Given the description of an element on the screen output the (x, y) to click on. 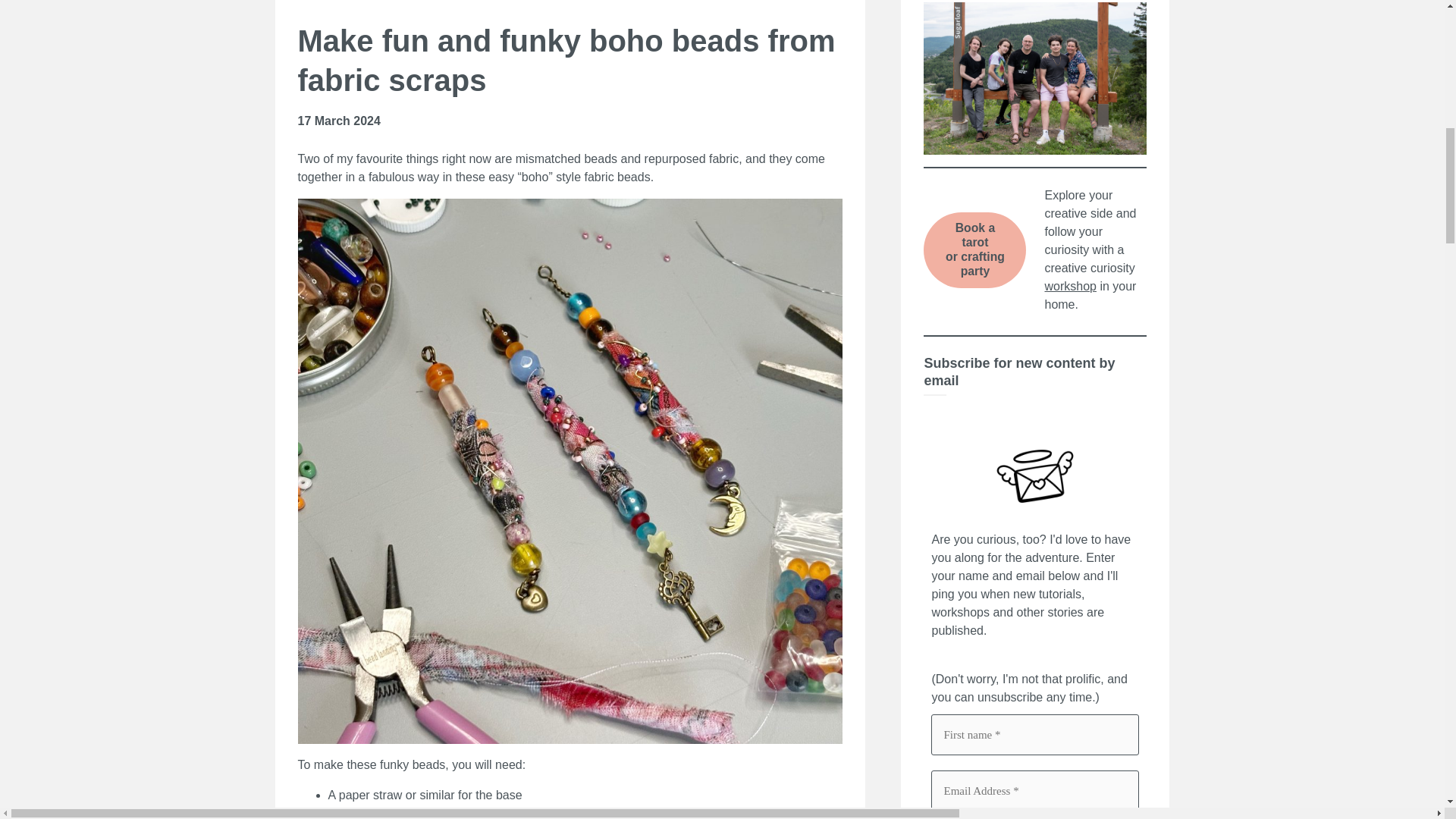
First name (1034, 734)
17 March 2024 (338, 120)
workshop (974, 250)
Email Address (1069, 286)
